Given the description of an element on the screen output the (x, y) to click on. 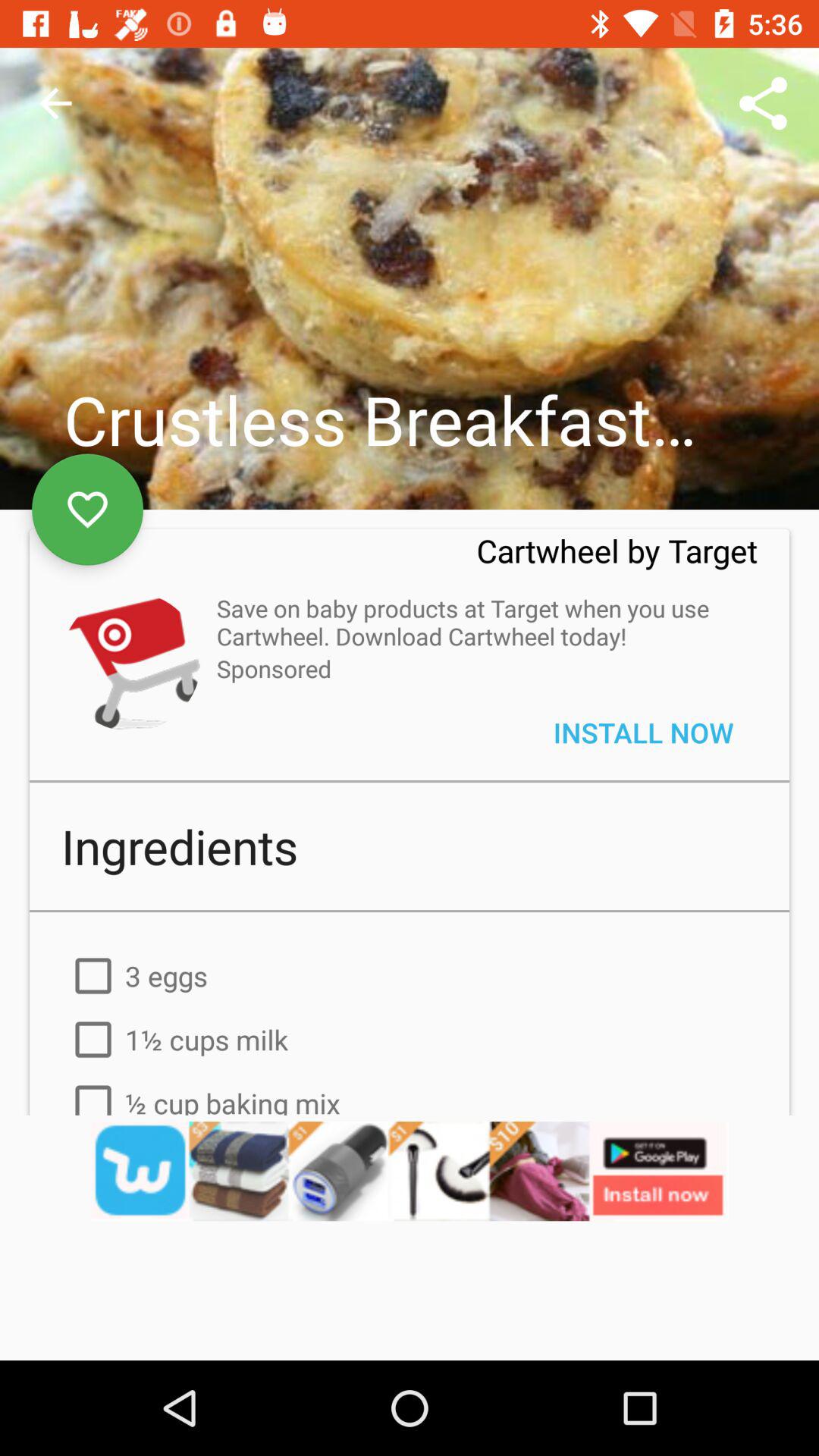
install app (130, 661)
